Given the description of an element on the screen output the (x, y) to click on. 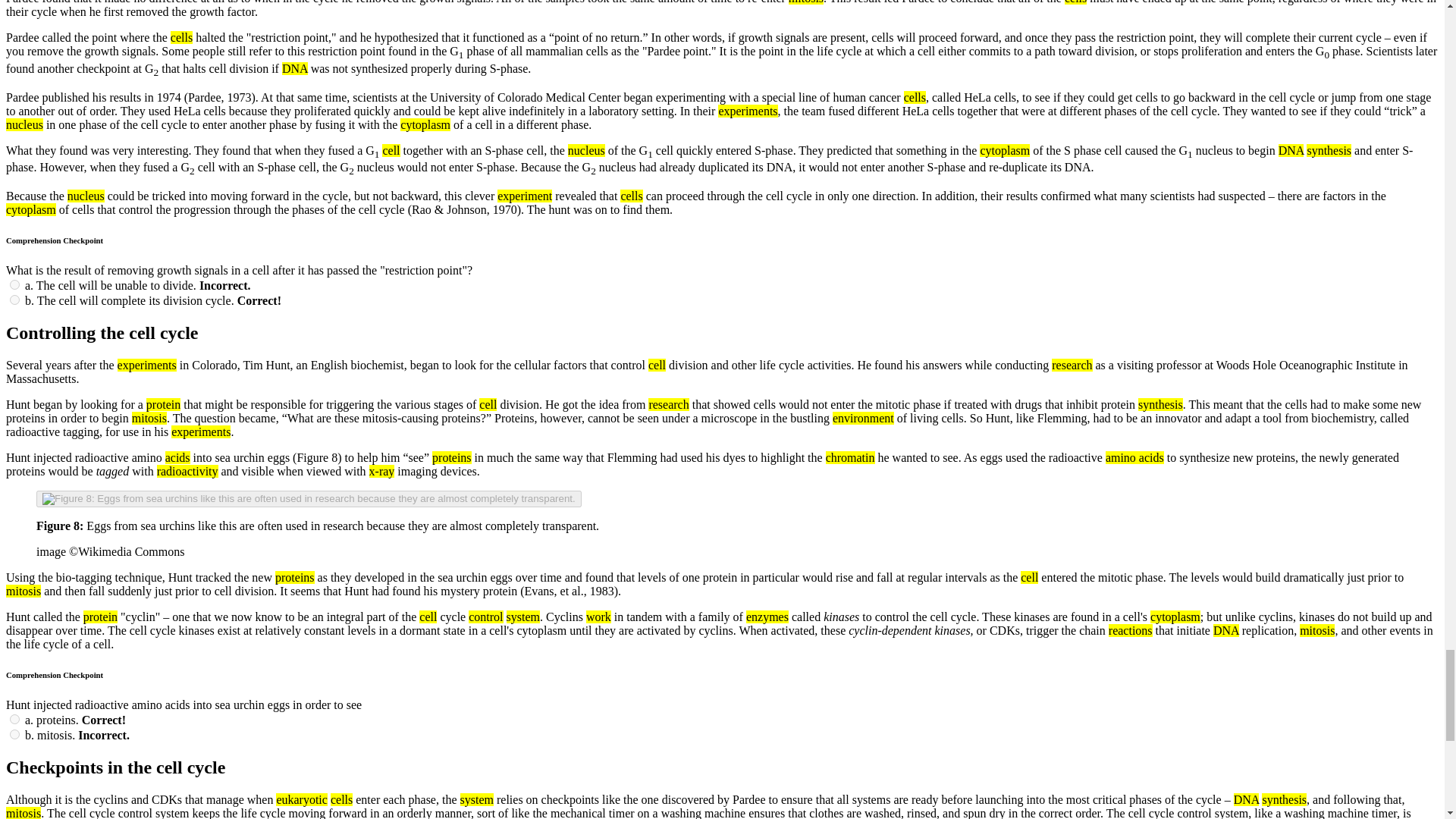
The cell will be unable to divide. (15, 284)
The cell will complete its division cycle. (15, 299)
mitosis. (15, 734)
proteins. (15, 718)
